Given the description of an element on the screen output the (x, y) to click on. 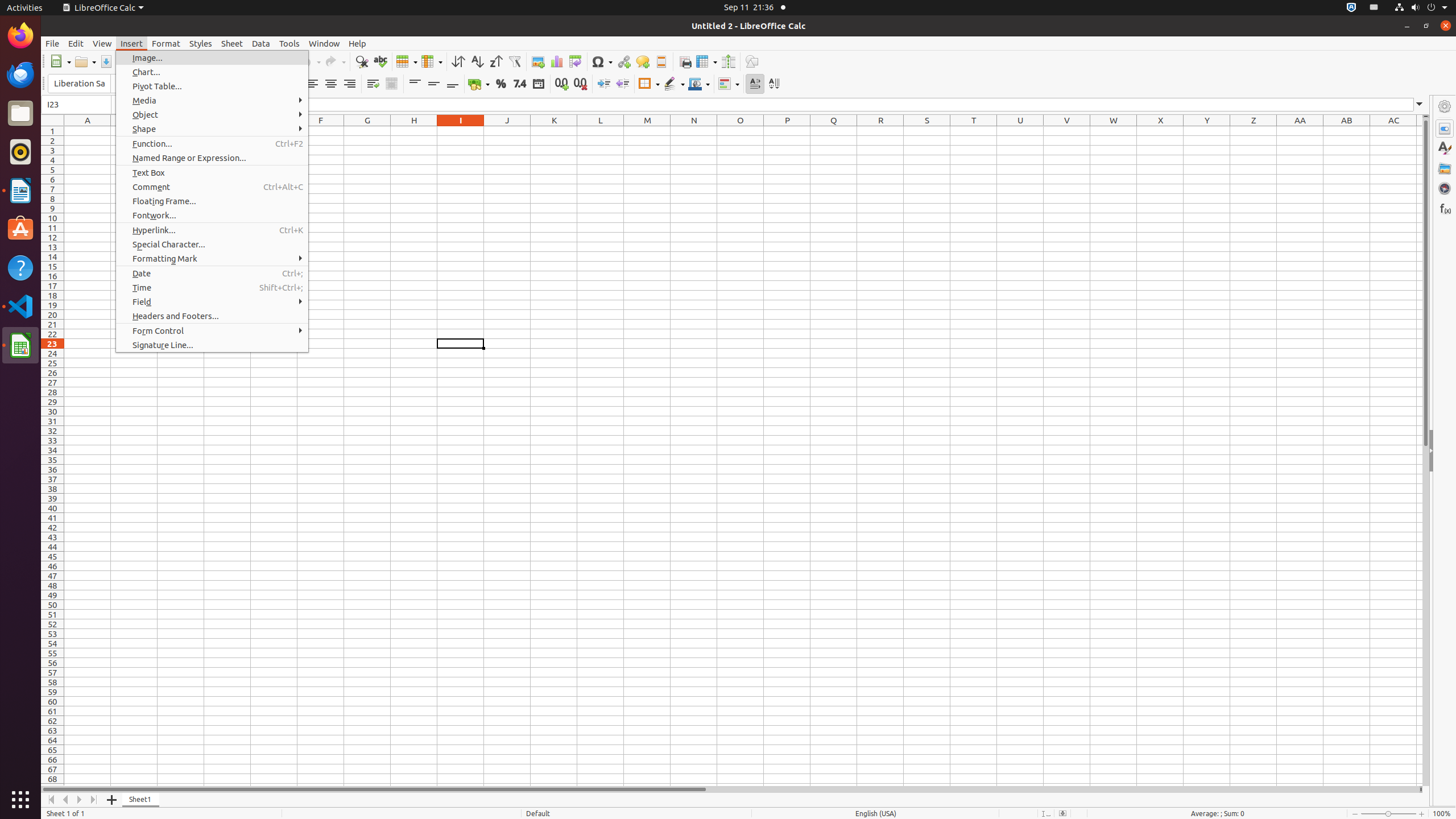
Add Decimal Place Element type: push-button (561, 83)
L1 Element type: table-cell (600, 130)
Date Element type: menu-item (212, 273)
U1 Element type: table-cell (1020, 130)
